Given the description of an element on the screen output the (x, y) to click on. 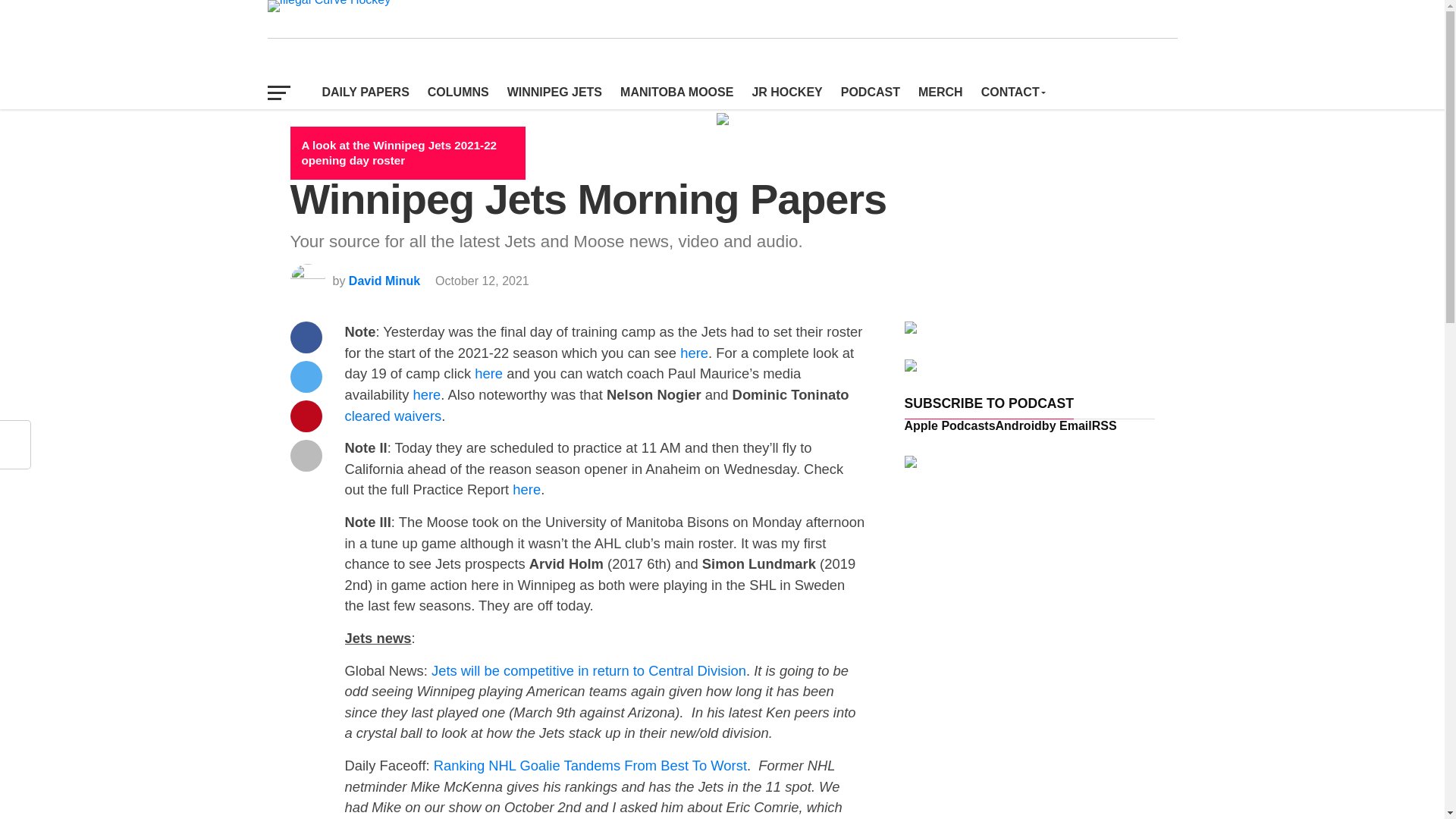
Subscribe on Apple Podcasts (949, 425)
PODCAST (869, 92)
here (488, 373)
COLUMNS (458, 92)
Posts by David Minuk (384, 280)
MANITOBA MOOSE (676, 92)
David Minuk (384, 280)
MERCH (940, 92)
here (693, 352)
Subscribe via RSS (1104, 425)
